Given the description of an element on the screen output the (x, y) to click on. 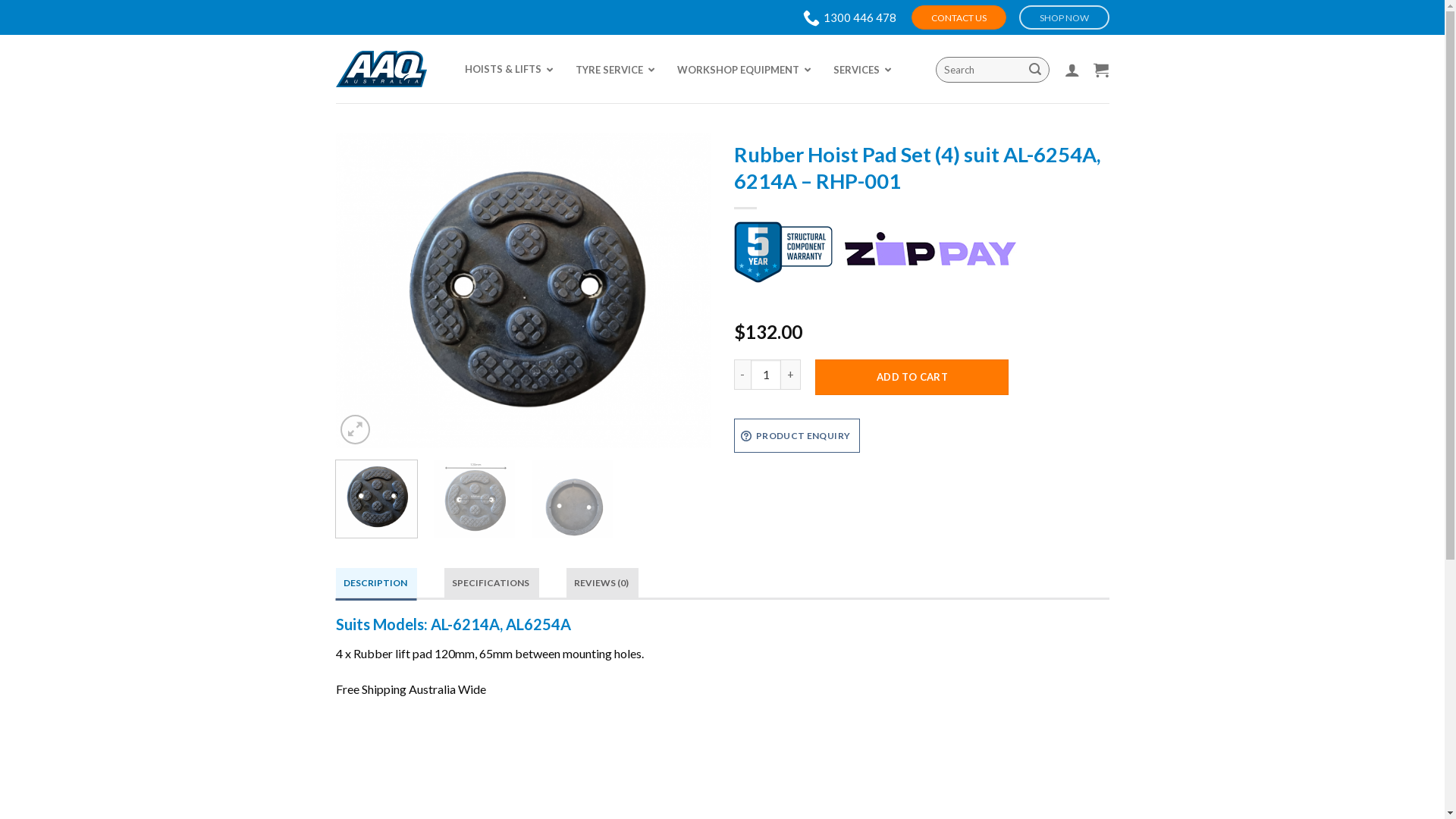
AAQ - Advance Auto Quip Element type: hover (380, 68)
SERVICES Element type: text (857, 69)
Zoom Element type: hover (355, 429)
SHOP NOW Element type: text (1064, 17)
1300 446 478 Element type: text (849, 17)
HOISTS & LIFTS Element type: text (503, 69)
Search Element type: text (1035, 69)
ADD TO CART Element type: text (911, 377)
TYRE SERVICE Element type: text (610, 69)
REVIEWS (0) Element type: text (601, 582)
SPECIFICATIONS Element type: text (491, 582)
Hoist Pad (1) Element type: hover (522, 290)
WORKSHOP EQUIPMENT Element type: text (739, 69)
DESCRIPTION Element type: text (375, 582)
PRODUCT ENQUIRY Element type: text (797, 435)
CONTACT US Element type: text (958, 17)
Cart Element type: hover (1100, 69)
